Given the description of an element on the screen output the (x, y) to click on. 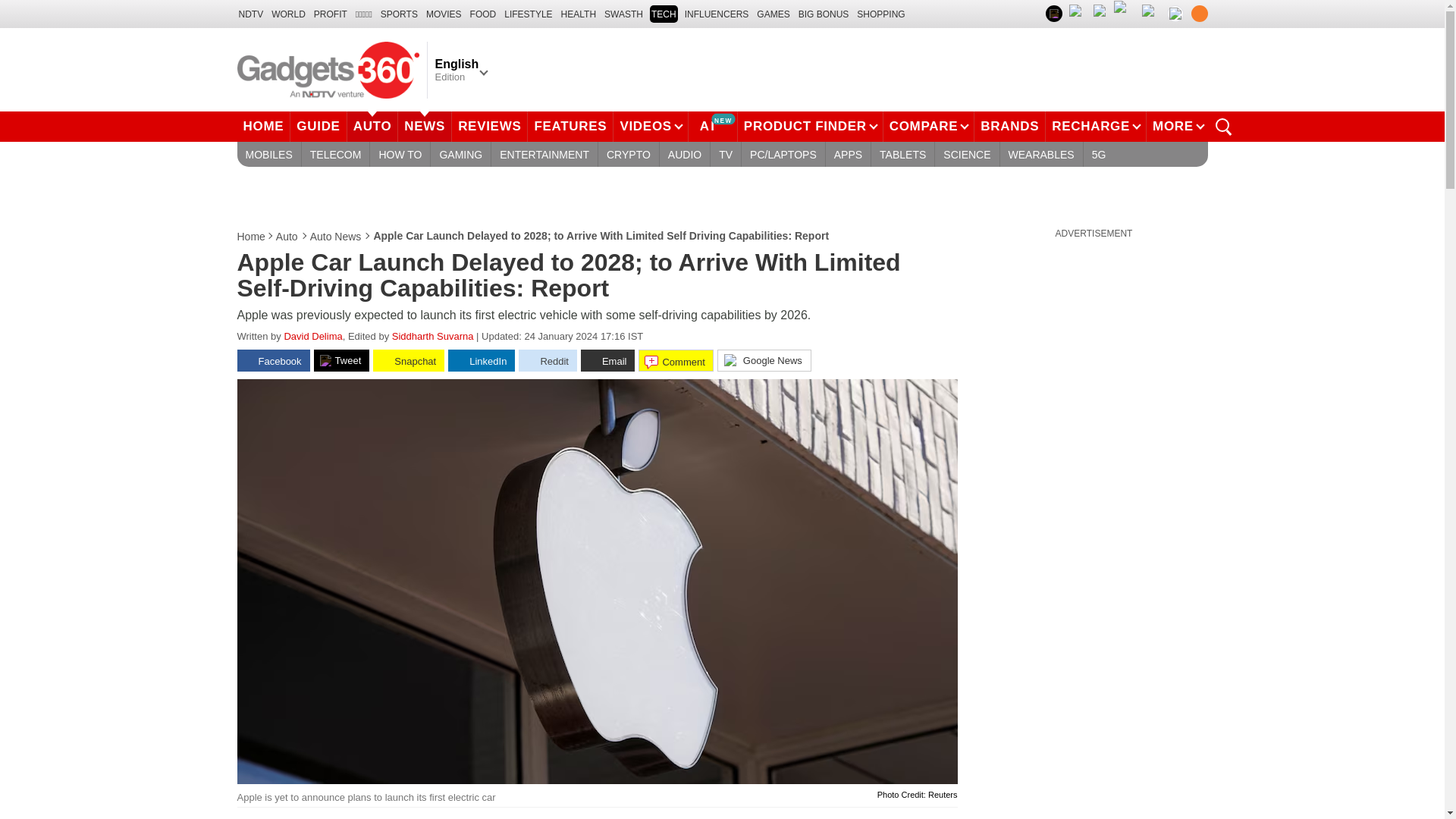
WORLD (288, 13)
REVIEWS (489, 126)
Sports (398, 13)
HOME (262, 126)
SHOPPING (880, 13)
TECH (663, 13)
HEALTH (577, 13)
TECH (663, 13)
HEALTH (577, 13)
NDTV (249, 13)
